Given the description of an element on the screen output the (x, y) to click on. 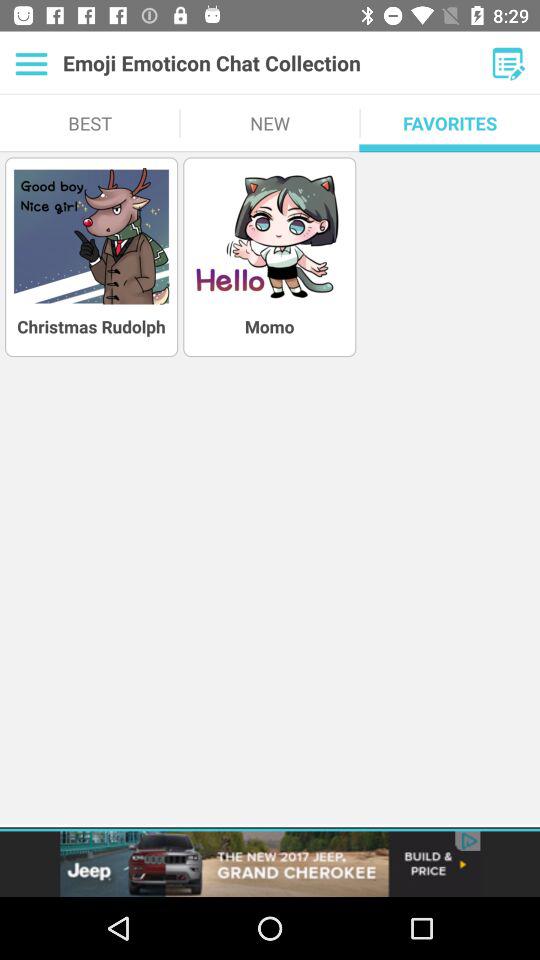
menu list (31, 63)
